Given the description of an element on the screen output the (x, y) to click on. 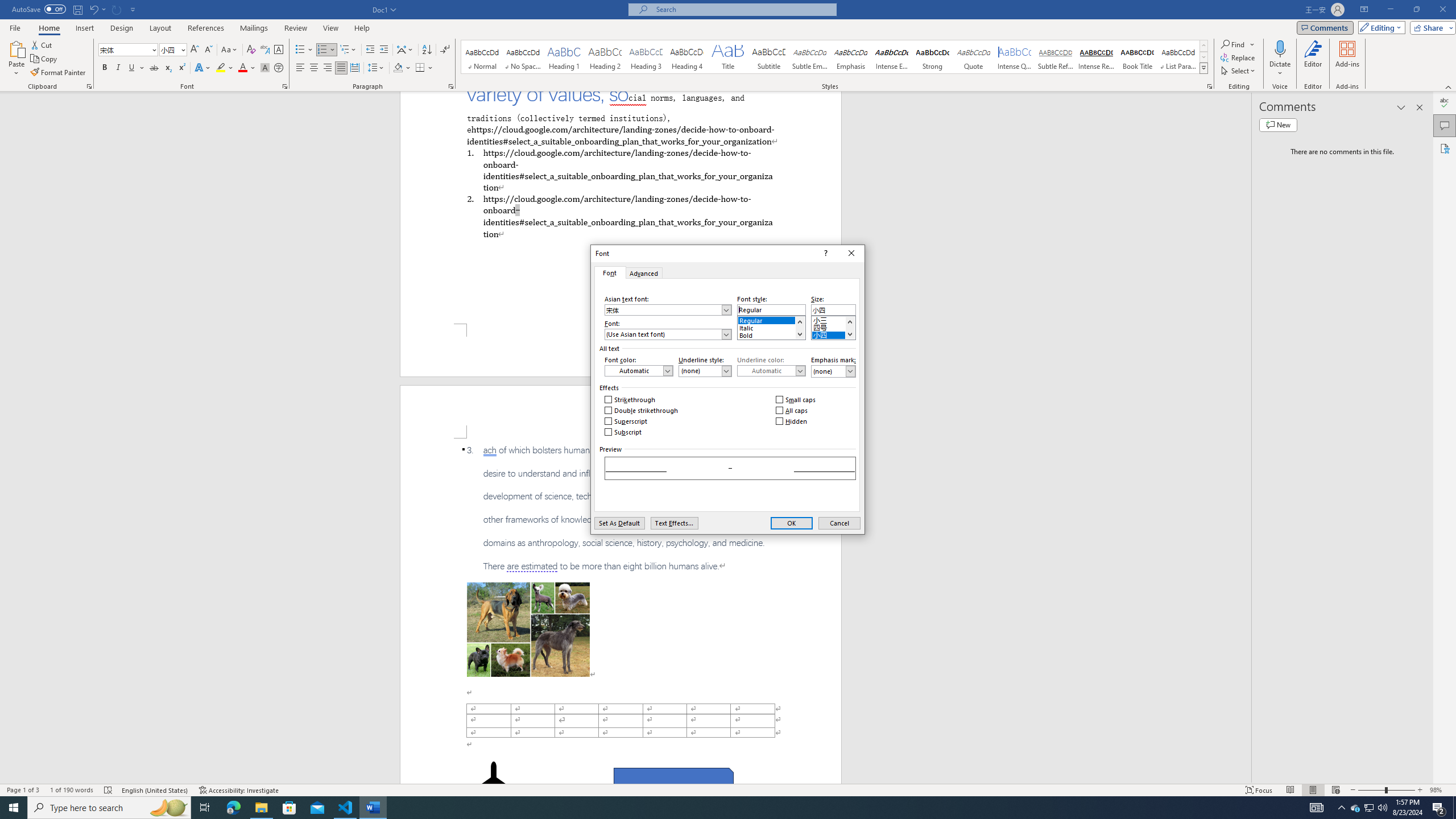
OK (791, 522)
AutomationID: 1797 (849, 327)
Bold (771, 333)
Word - 1 running window (373, 807)
Search highlights icon opens search home window (167, 807)
Subtle Reference (1055, 56)
Paste (16, 48)
Accessibility Checker Accessibility: Investigate (239, 790)
File Tab (15, 27)
Find (1232, 44)
Character Border (278, 49)
Airplane with solid fill (493, 783)
